Given the description of an element on the screen output the (x, y) to click on. 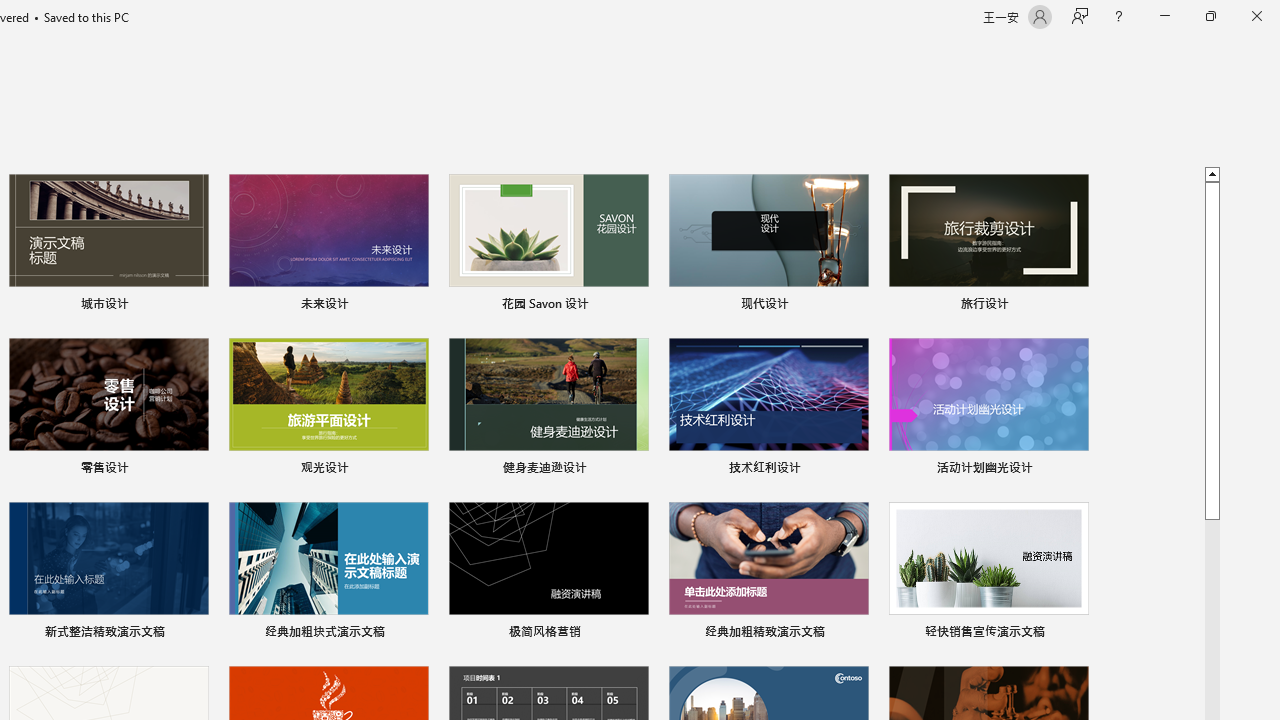
Pin to list (1075, 633)
